Given the description of an element on the screen output the (x, y) to click on. 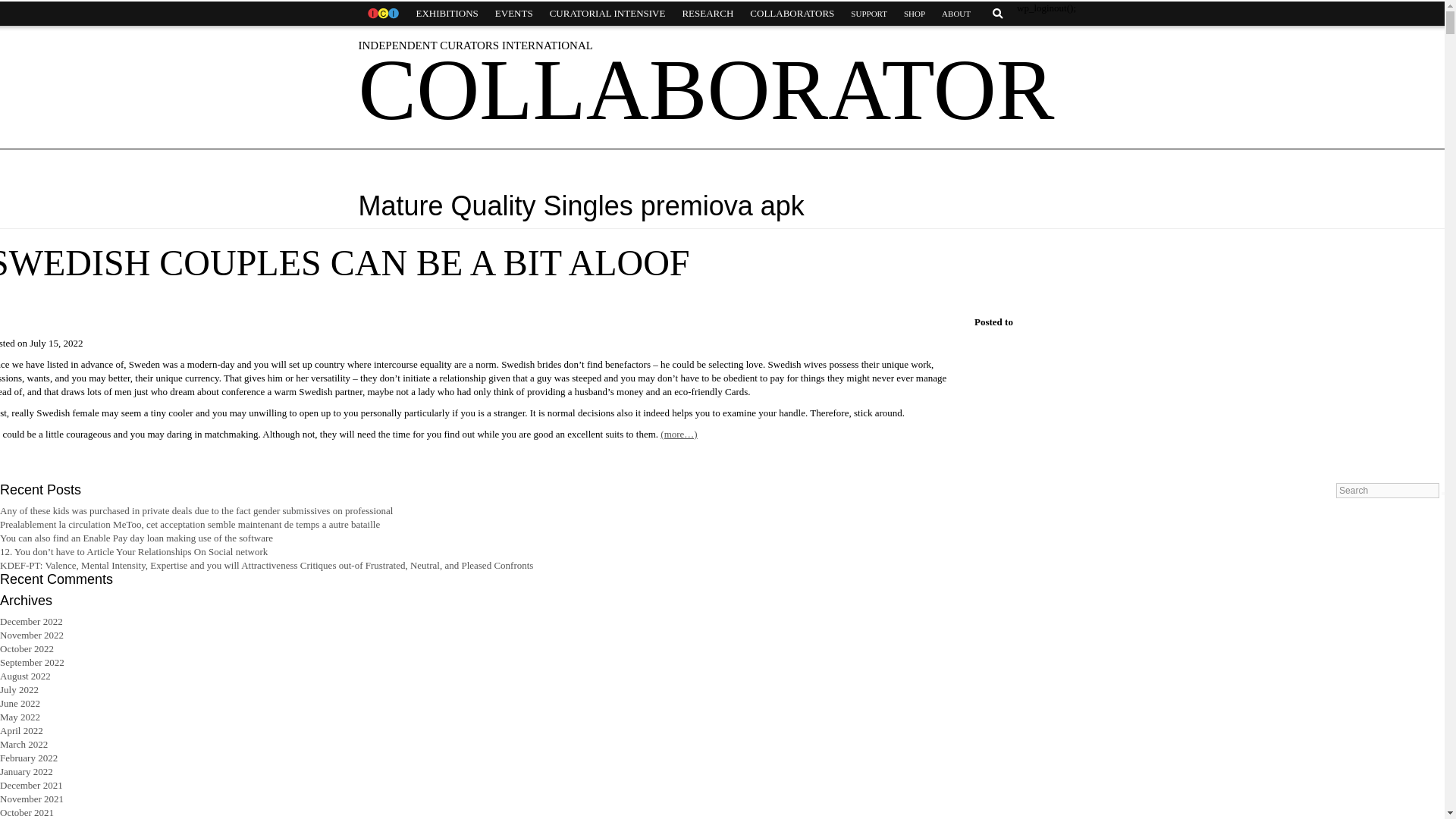
EXHIBITIONS (446, 13)
CURATORIAL INTENSIVE (607, 13)
EVENTS (513, 13)
HOME (382, 13)
RESEARCH (706, 13)
COLLABORATORS (792, 13)
